Given the description of an element on the screen output the (x, y) to click on. 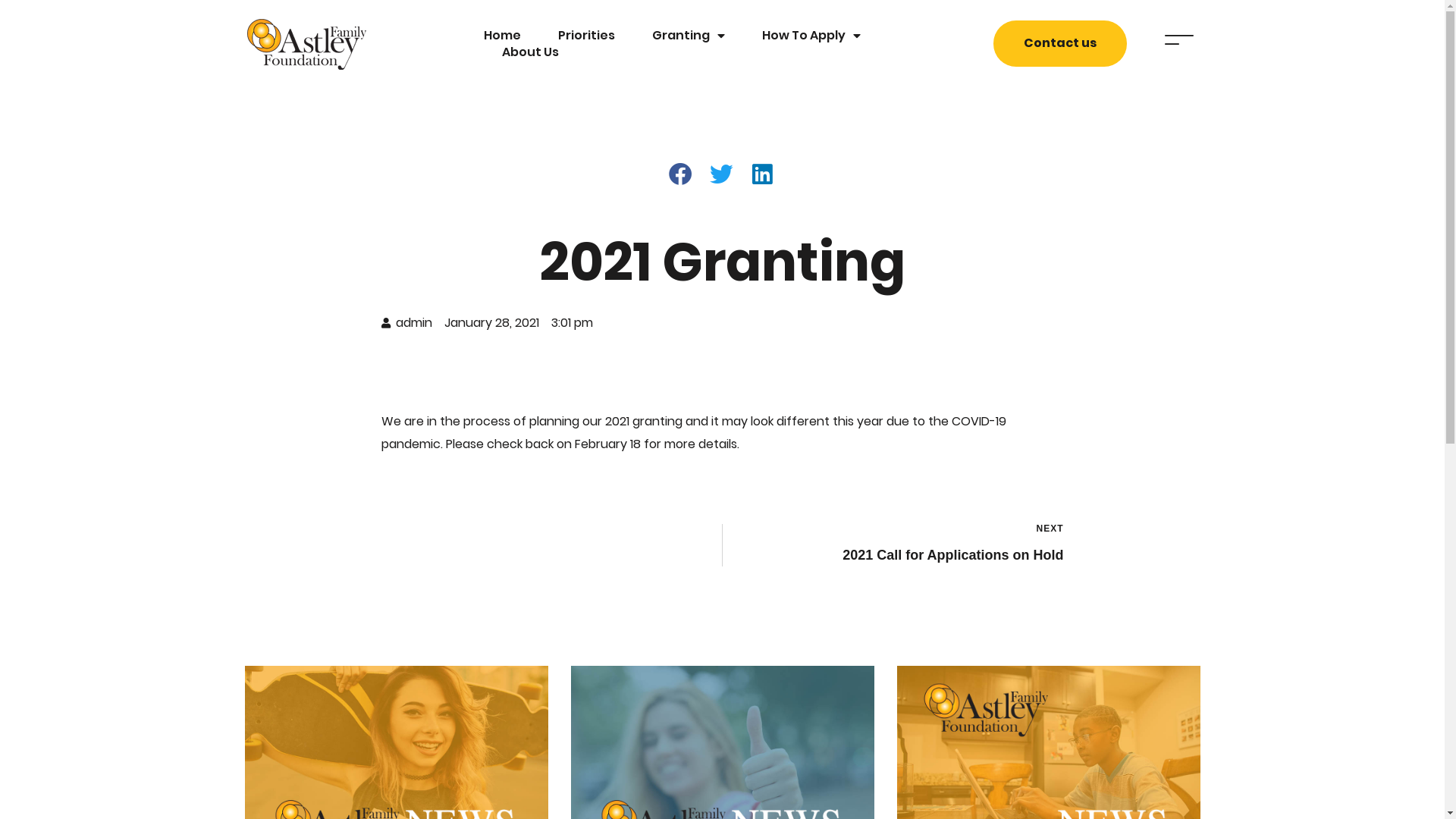
January 28, 2021 Element type: text (491, 322)
Home Element type: text (501, 35)
Priorities Element type: text (586, 35)
How To Apply Element type: text (810, 35)
Granting Element type: text (688, 35)
admin Element type: text (405, 322)
Contact us Element type: text (1059, 43)
About Us Element type: text (530, 51)
NEXT
2021 Call for Applications on Hold Element type: text (898, 545)
